Given the description of an element on the screen output the (x, y) to click on. 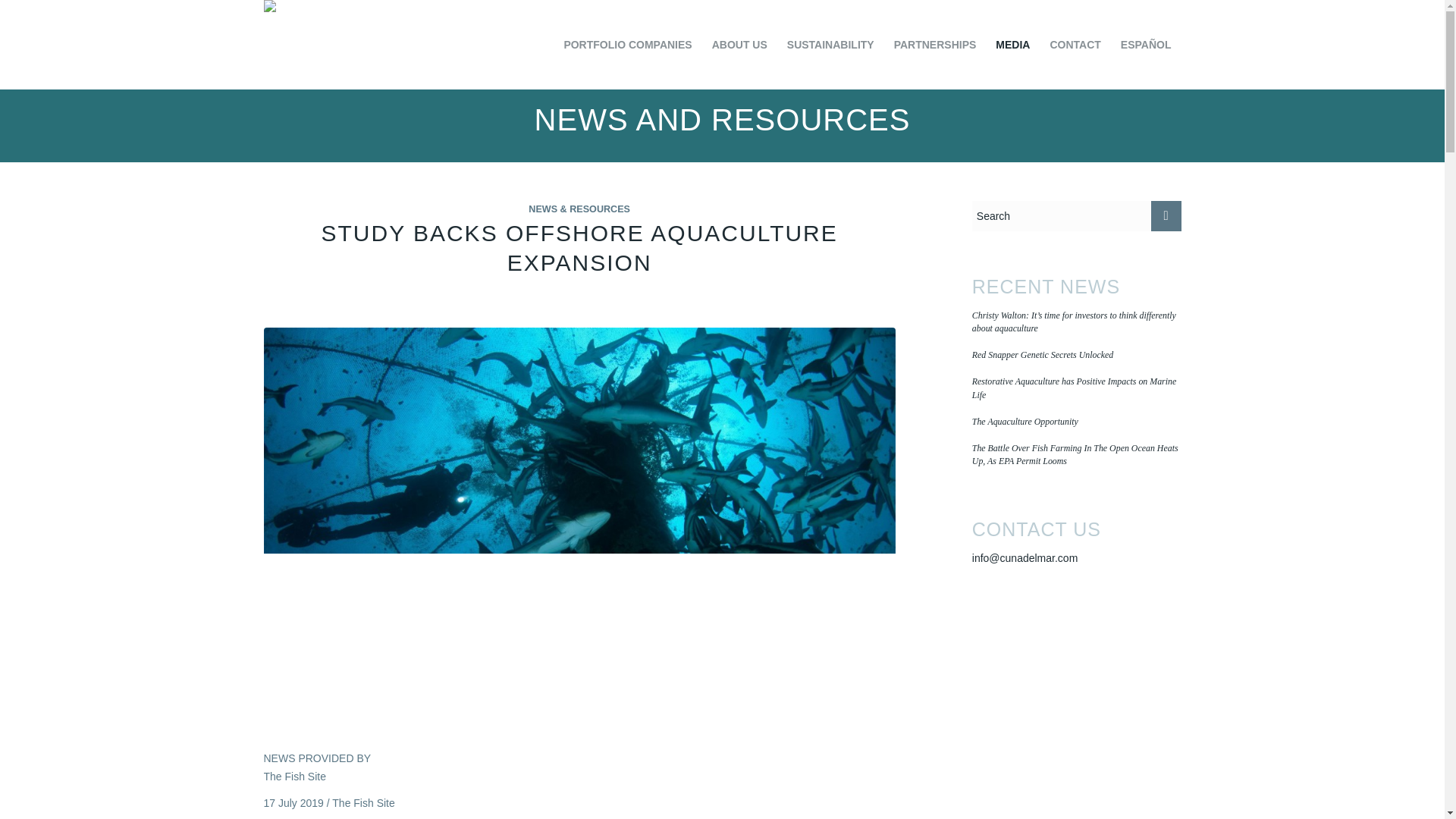
PARTNERSHIPS (935, 44)
Permanent Link: Study backs offshore aquaculture expansion (578, 247)
PORTFOLIO COMPANIES (627, 44)
STUDY BACKS OFFSHORE AQUACULTURE EXPANSION (578, 247)
The Fish Site (294, 776)
CunaDelMarLogo (301, 12)
SUSTAINABILITY (830, 44)
